Given the description of an element on the screen output the (x, y) to click on. 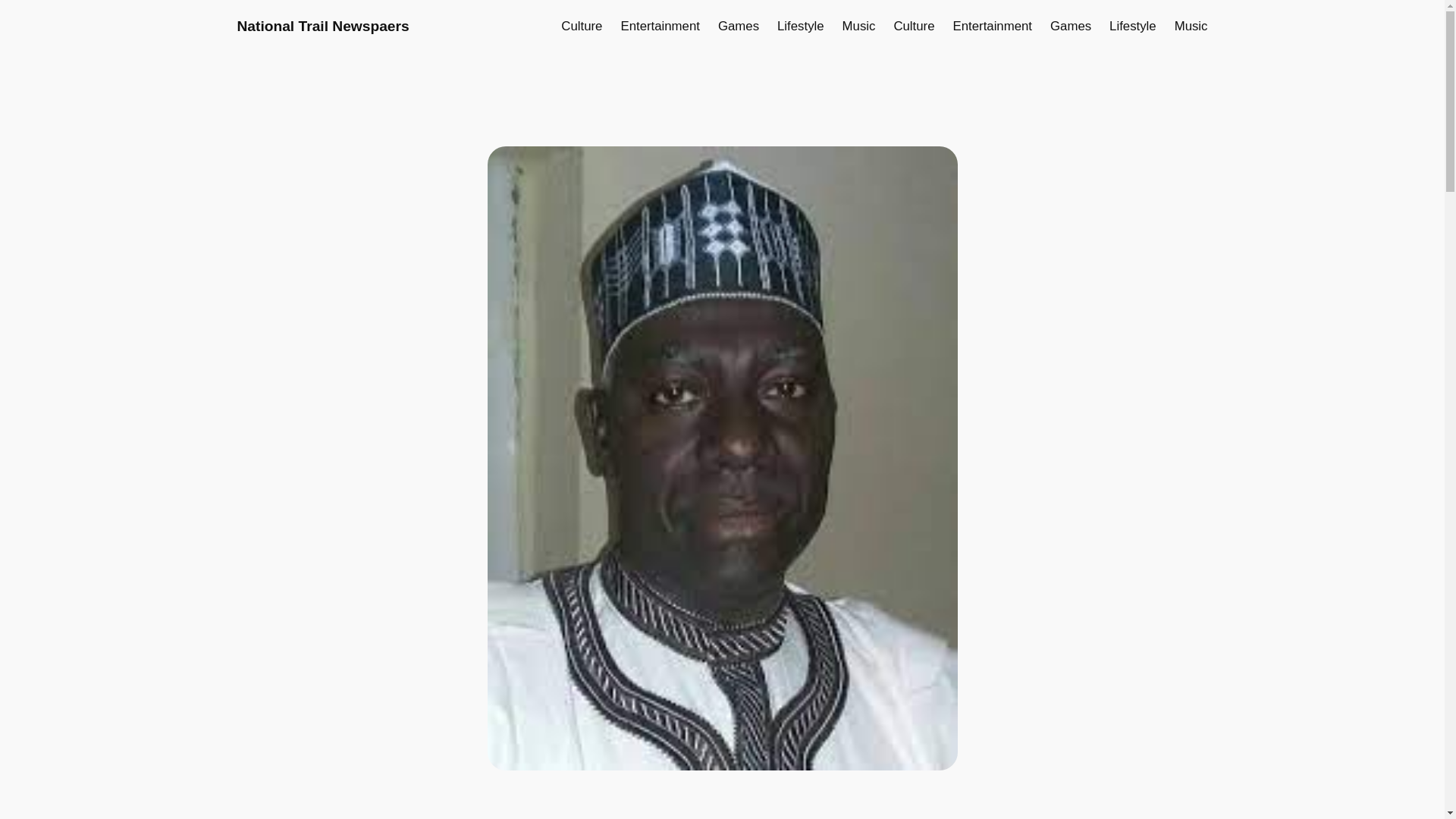
Culture (581, 26)
Games (737, 26)
Lifestyle (1132, 26)
Music (1191, 26)
Entertainment (659, 26)
Lifestyle (800, 26)
National Trail Newspaers (322, 26)
Games (1069, 26)
Culture (913, 26)
Music (859, 26)
Entertainment (992, 26)
